Given the description of an element on the screen output the (x, y) to click on. 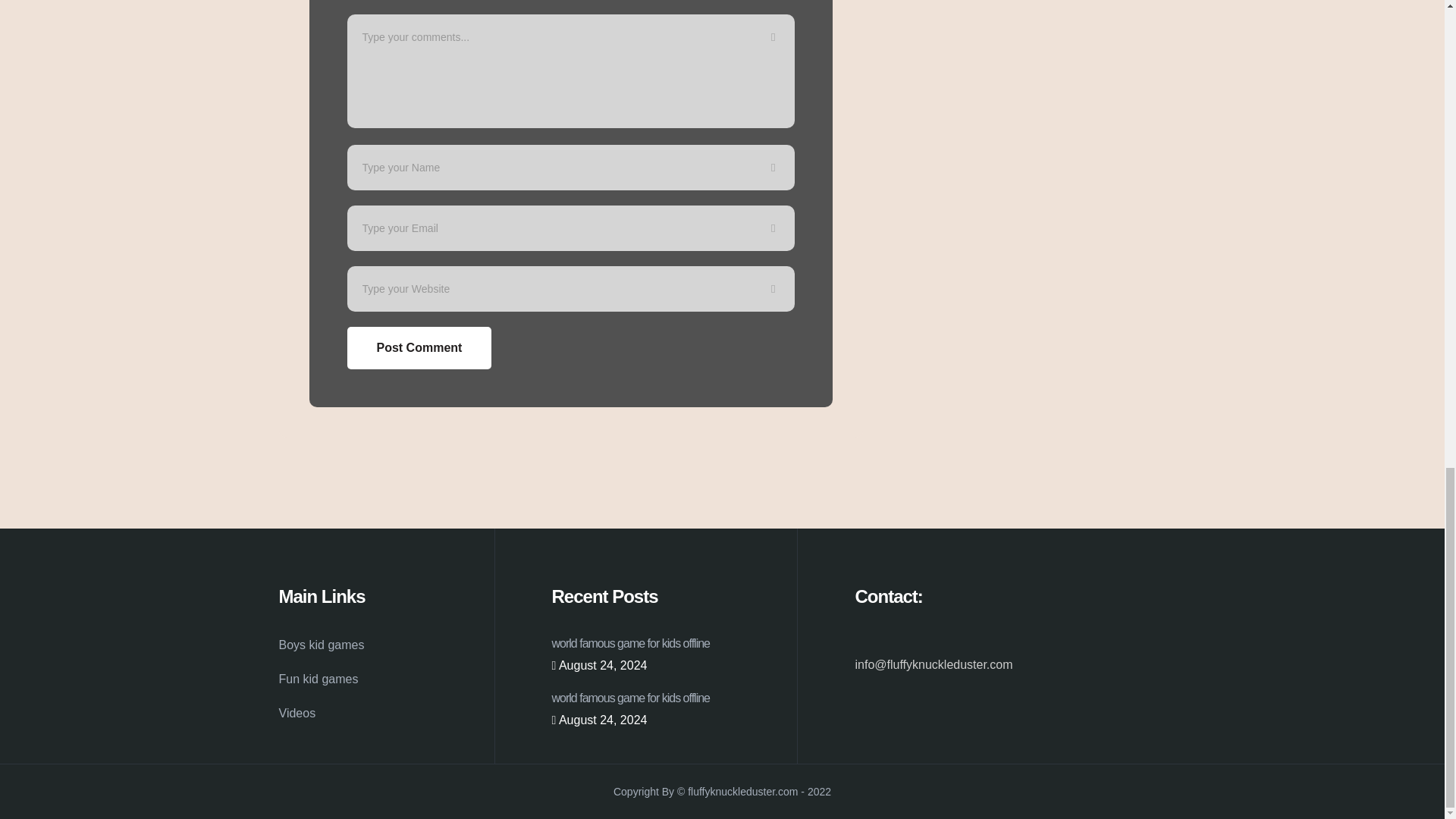
world famous game for kids offline (630, 643)
Fun kid games (318, 679)
Post Comment (419, 347)
Boys kid games (322, 645)
Videos (297, 713)
